Given the description of an element on the screen output the (x, y) to click on. 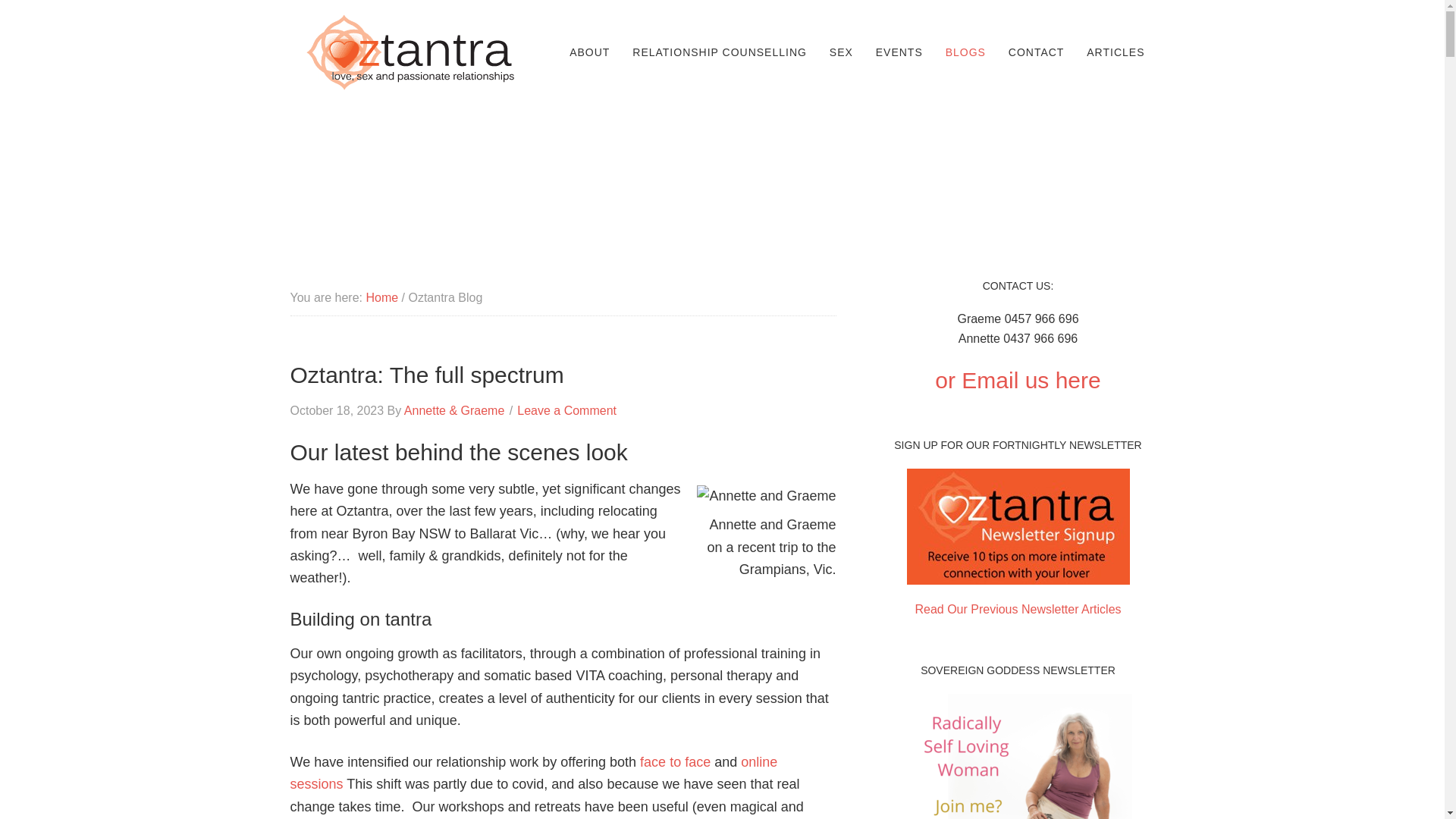
ABOUT (589, 52)
SEX (841, 52)
workshop schedule (899, 52)
EVENTS (899, 52)
RELATIONSHIP COUNSELLING (719, 52)
Newsletter Signup (1018, 589)
